Given the description of an element on the screen output the (x, y) to click on. 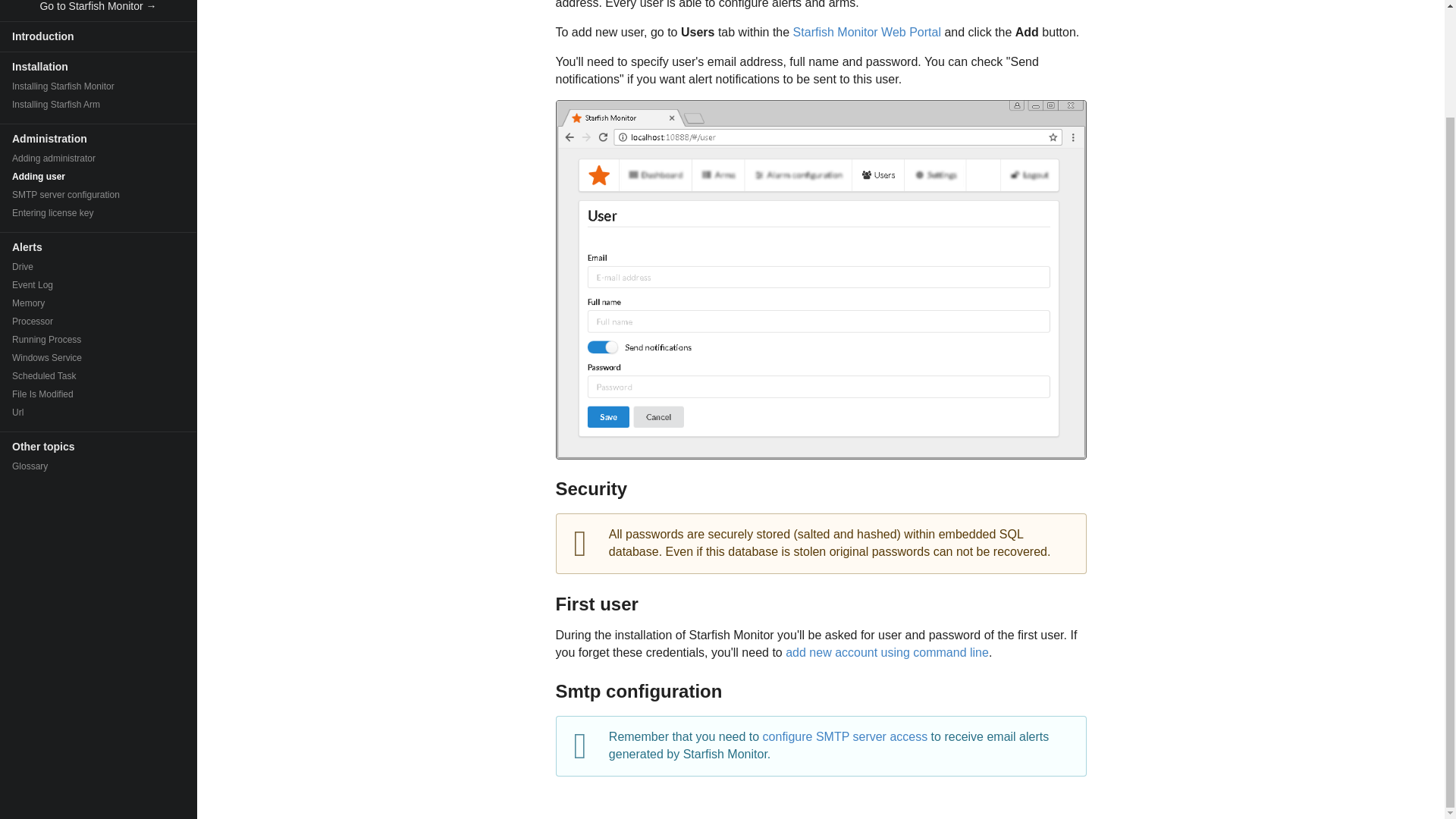
Starfish Monitor Web Portal (866, 31)
Windows Service (98, 357)
SMTP server configuration (98, 194)
Scheduled Task (98, 375)
Installing Starfish Monitor (98, 85)
Url (98, 412)
configure SMTP server access (845, 736)
Adding administrator (98, 158)
Running Process (98, 339)
Glossary (98, 466)
Drive (98, 266)
Memory (98, 303)
Event Log (98, 285)
Introduction (98, 36)
Processor (98, 321)
